Given the description of an element on the screen output the (x, y) to click on. 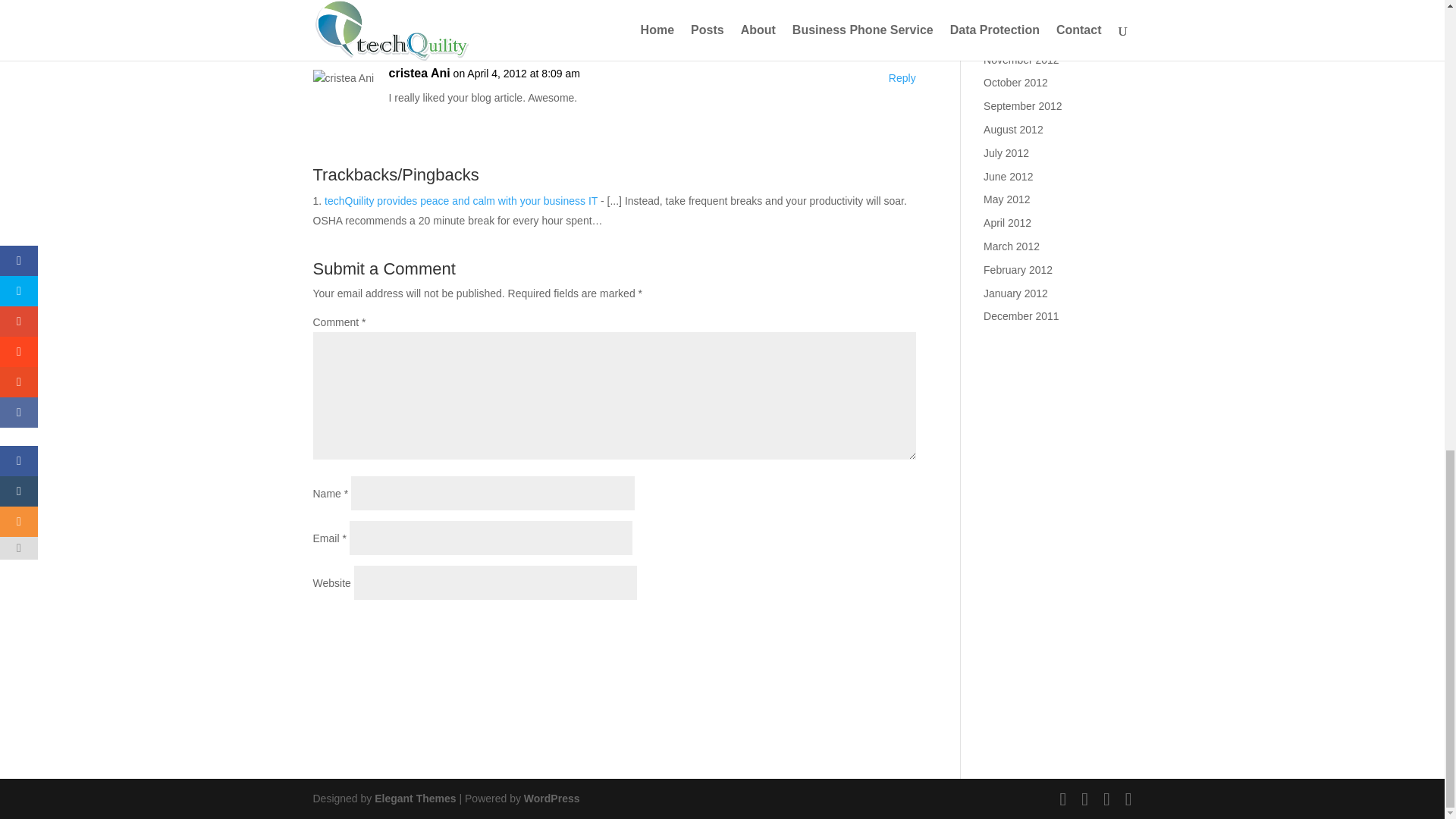
Submit Comment (840, 629)
Submit Comment (840, 629)
techQuility provides peace and calm with your business IT (460, 200)
Premium WordPress Themes (414, 798)
Reply (901, 78)
